Given the description of an element on the screen output the (x, y) to click on. 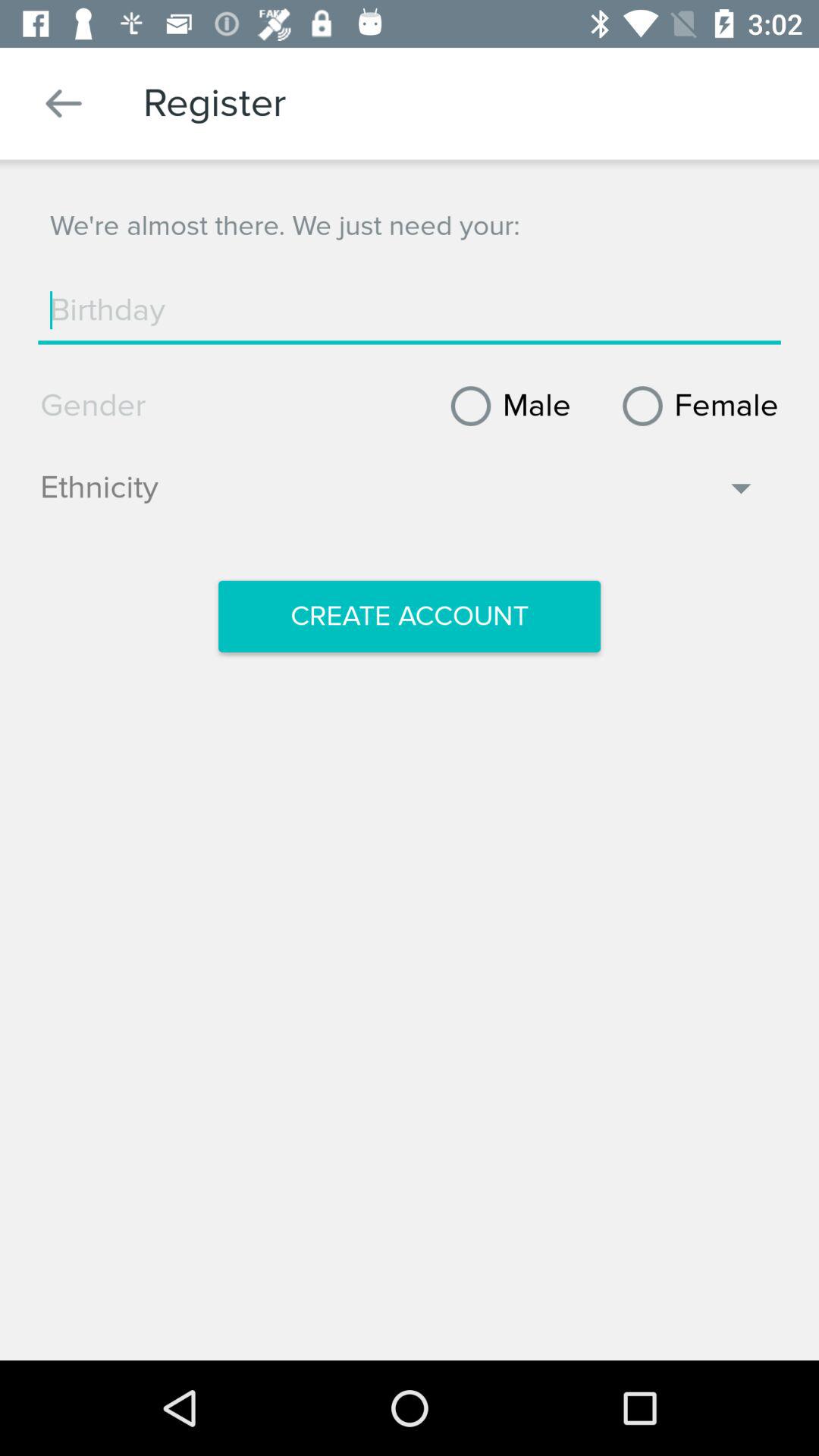
select the app next to the register icon (63, 103)
